Given the description of an element on the screen output the (x, y) to click on. 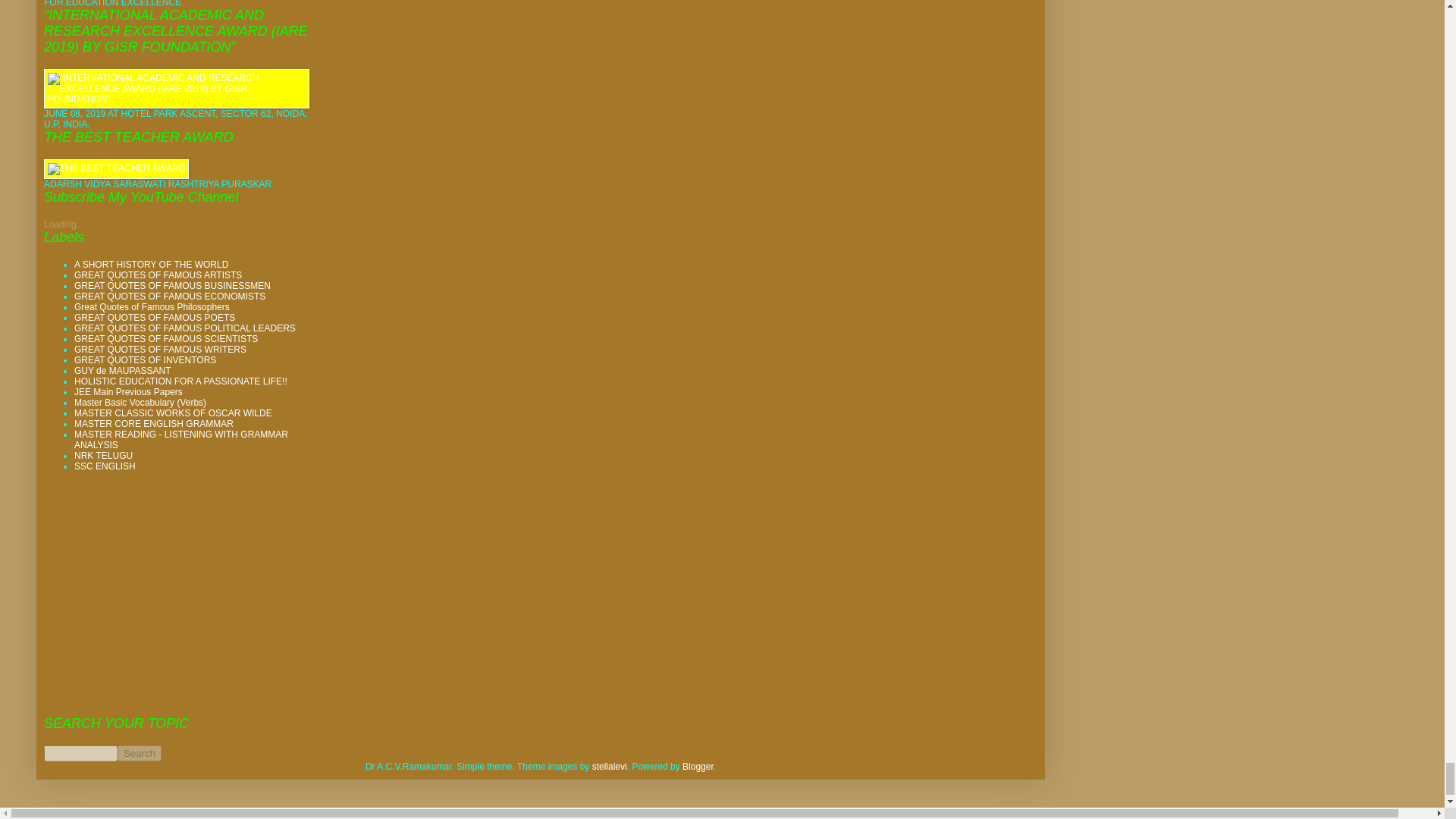
Search (139, 753)
Search (139, 753)
